Given the description of an element on the screen output the (x, y) to click on. 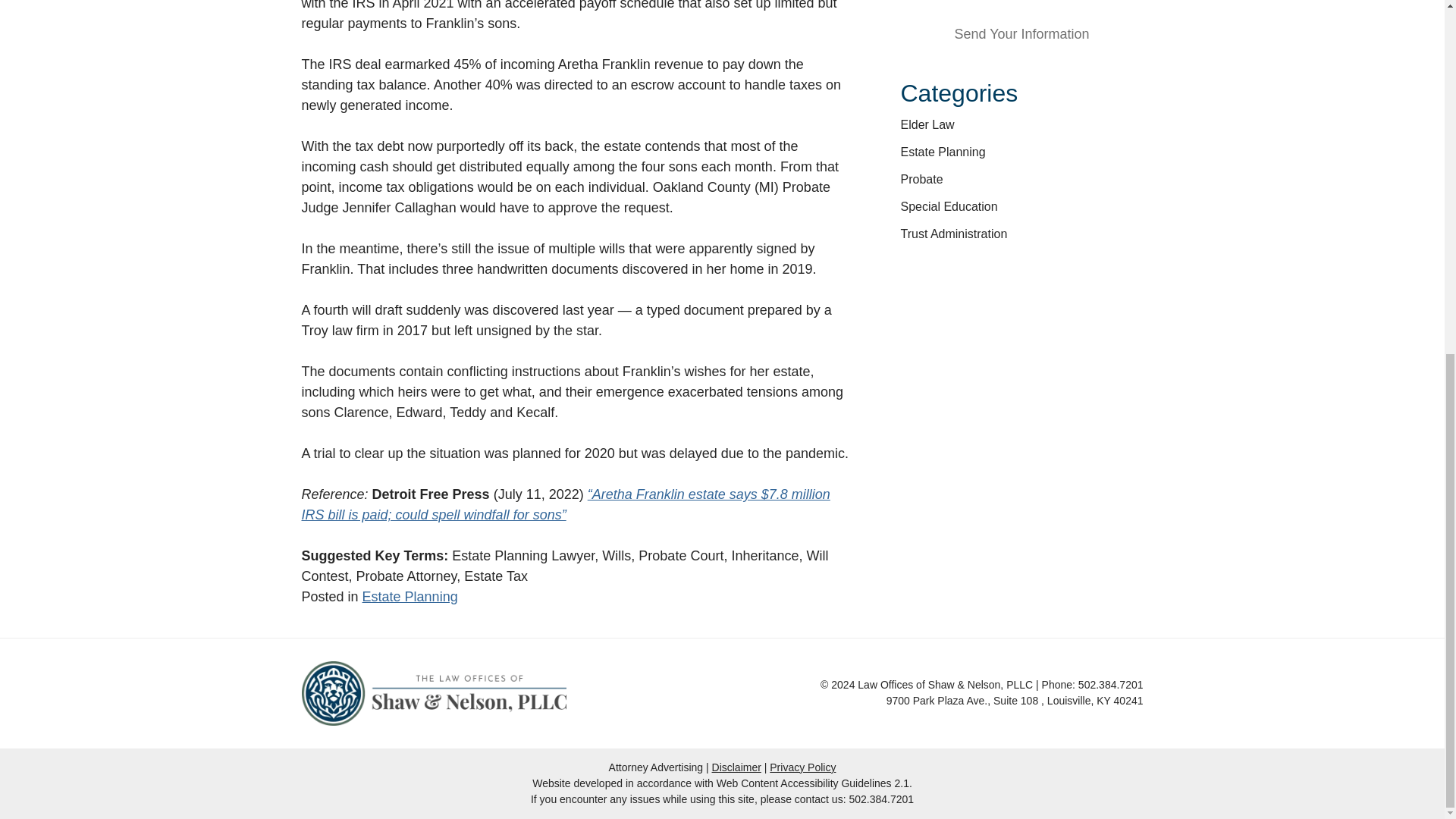
Elder Law (928, 124)
Send Your Information (1021, 34)
Estate Planning (943, 151)
Estate Planning (410, 596)
